Given the description of an element on the screen output the (x, y) to click on. 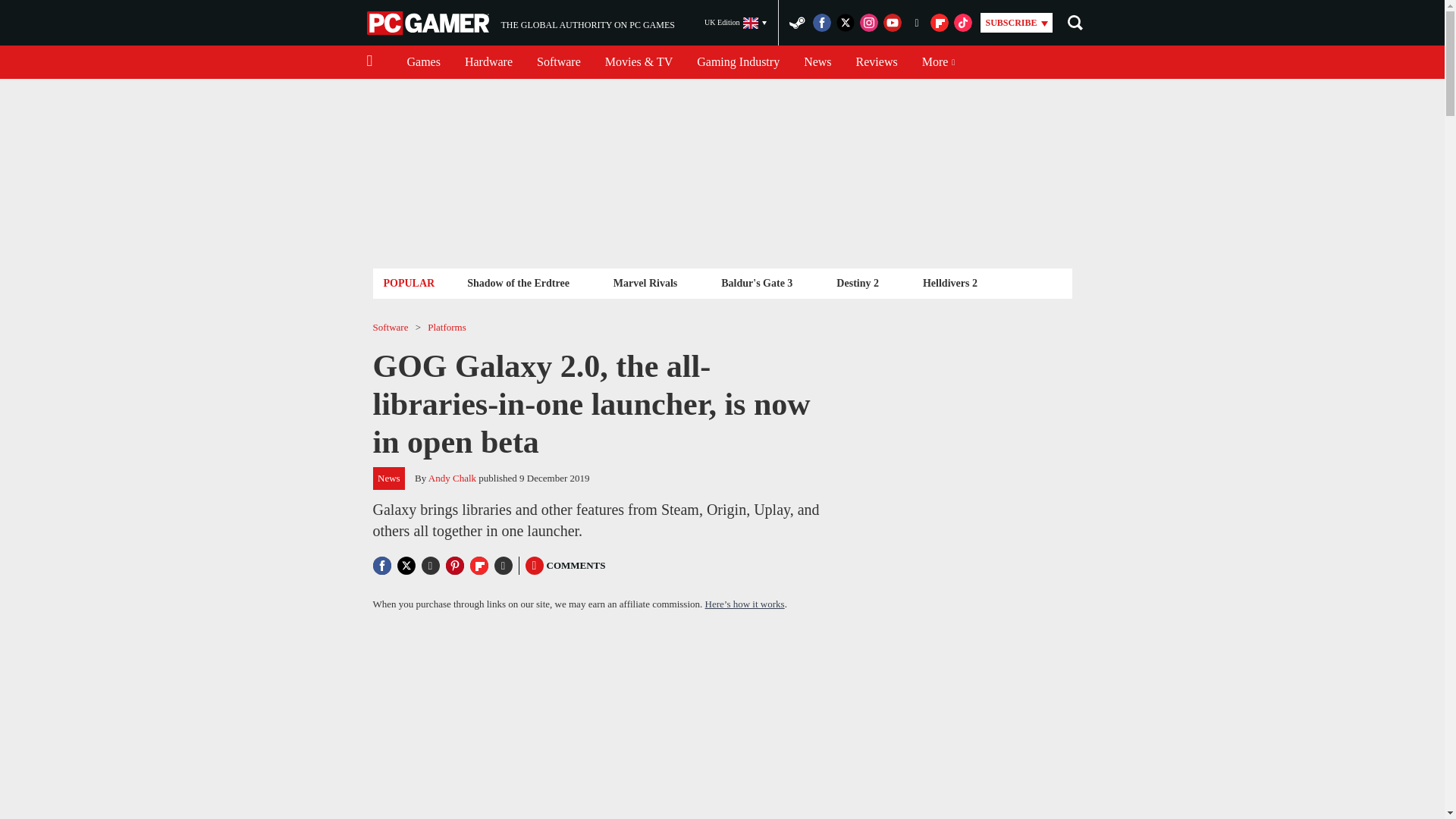
Gaming Industry (738, 61)
News (817, 61)
PC Gamer (429, 22)
Games (422, 61)
Hardware (488, 61)
Shadow of the Erdtree (518, 282)
Marvel Rivals (645, 282)
Reviews (877, 61)
Software (558, 61)
UK Edition (520, 22)
